Given the description of an element on the screen output the (x, y) to click on. 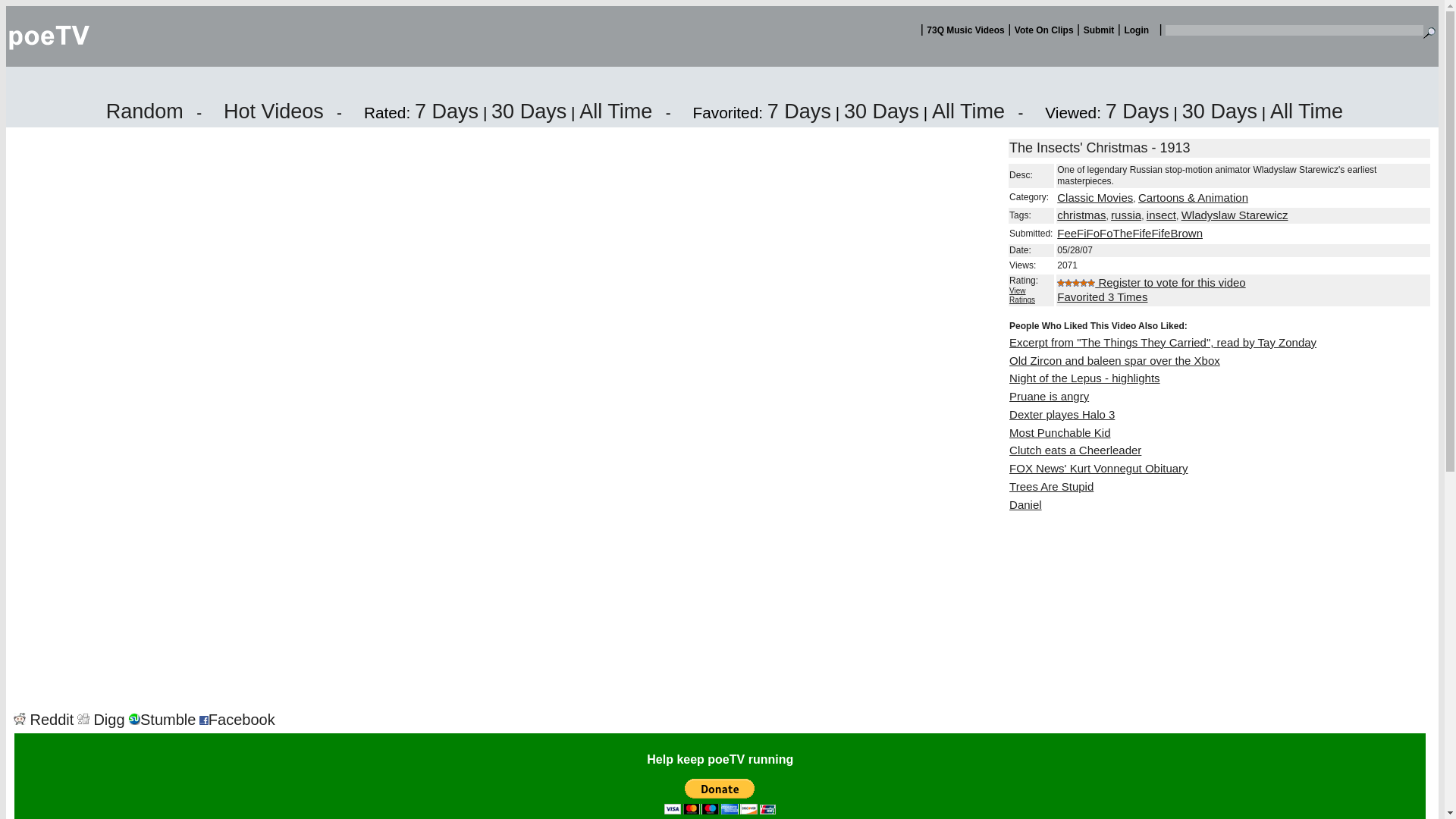
Digg (101, 719)
insect (1161, 214)
Register to vote for this video (1169, 282)
Old Zircon and baleen spar over the Xbox (1114, 359)
Vote On Clips (1044, 30)
Login (1136, 30)
All Time (1305, 110)
All Time (615, 110)
Pruane is angry (1049, 395)
Facebook (237, 719)
